Given the description of an element on the screen output the (x, y) to click on. 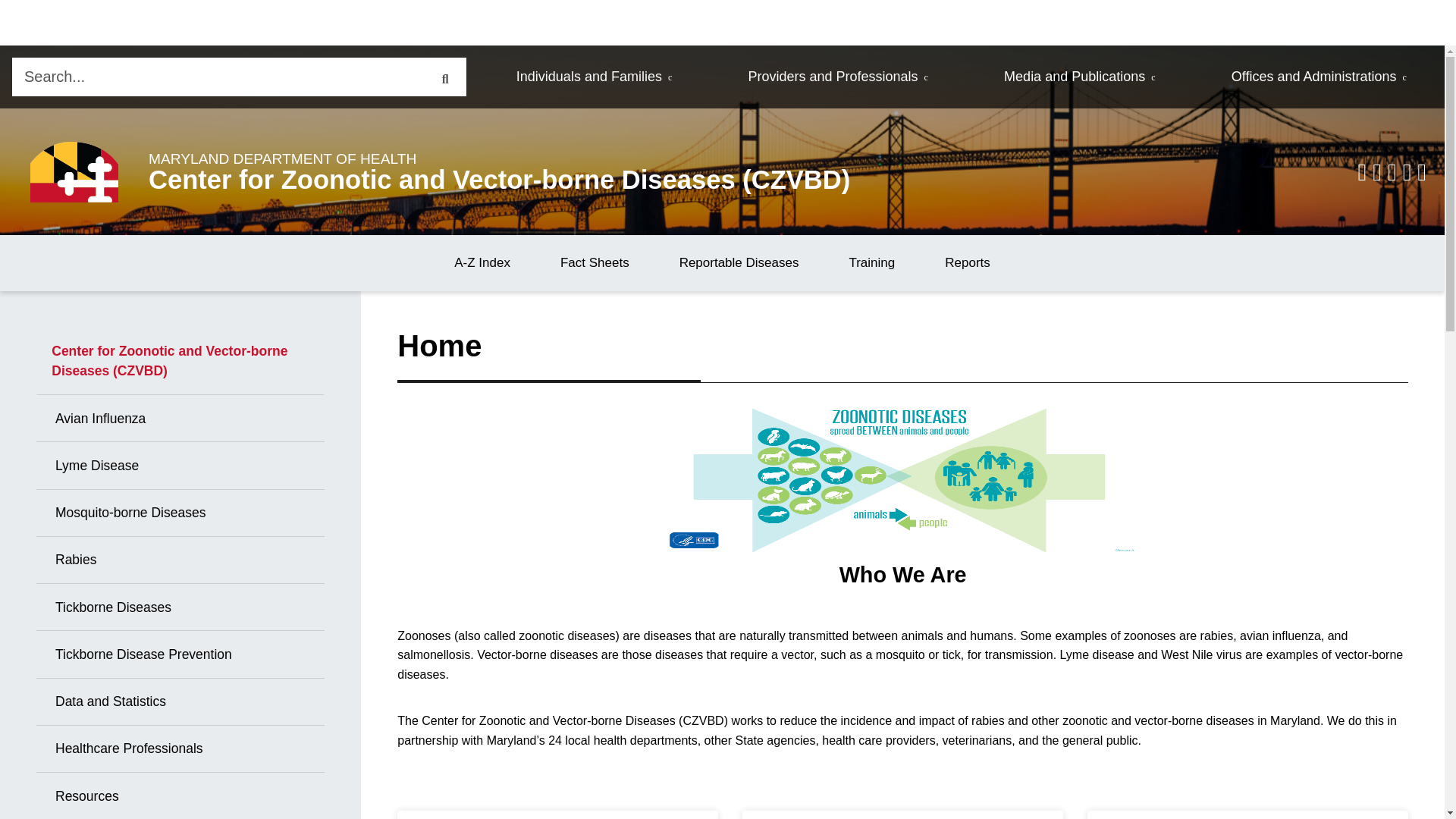
Skip to Content (11, 56)
Individuals and Families (594, 76)
Search (444, 76)
Search... (217, 76)
Maryland Department of Health (73, 171)
A-Z Index (482, 262)
Search... (217, 76)
Search... (217, 76)
